Given the description of an element on the screen output the (x, y) to click on. 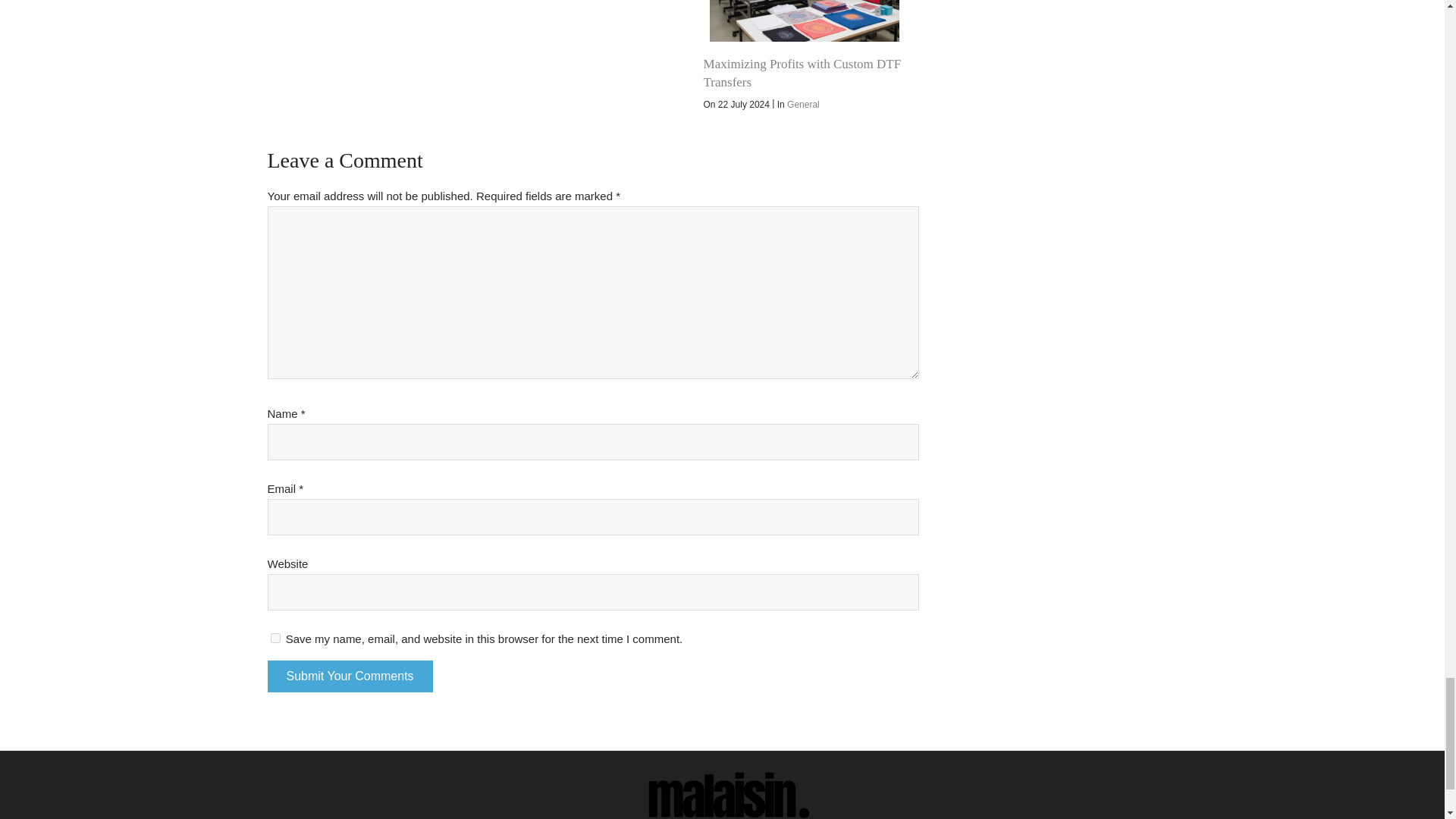
General (803, 104)
Maximizing Profits with Custom DTF Transfers (802, 72)
Submit Your Comments (349, 676)
Maximizing Profits with Custom DTF Transfers (804, 20)
Submit Your Comments (349, 676)
yes (274, 637)
Malaisin (722, 784)
